Given the description of an element on the screen output the (x, y) to click on. 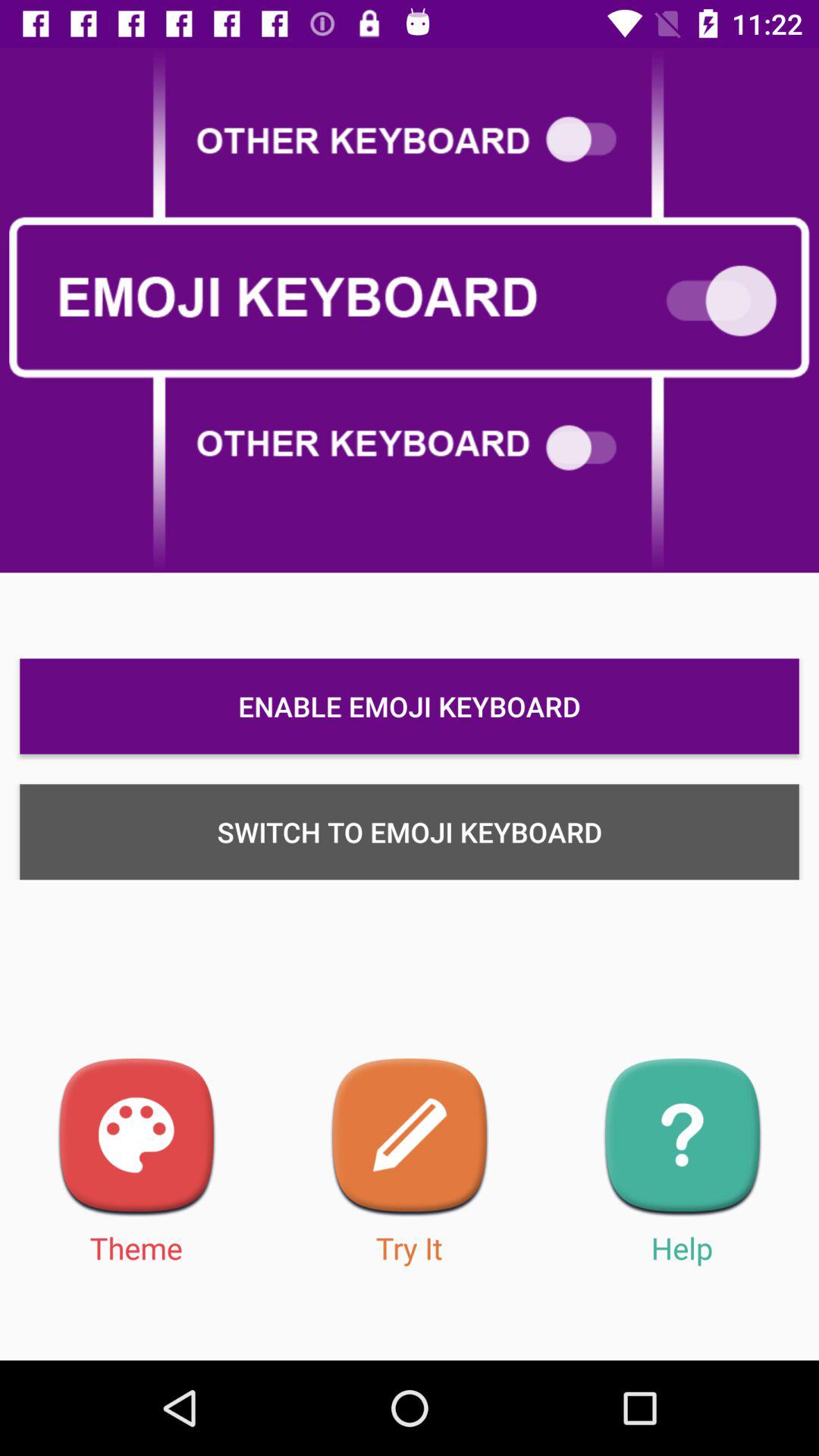
select theme (136, 1137)
